Given the description of an element on the screen output the (x, y) to click on. 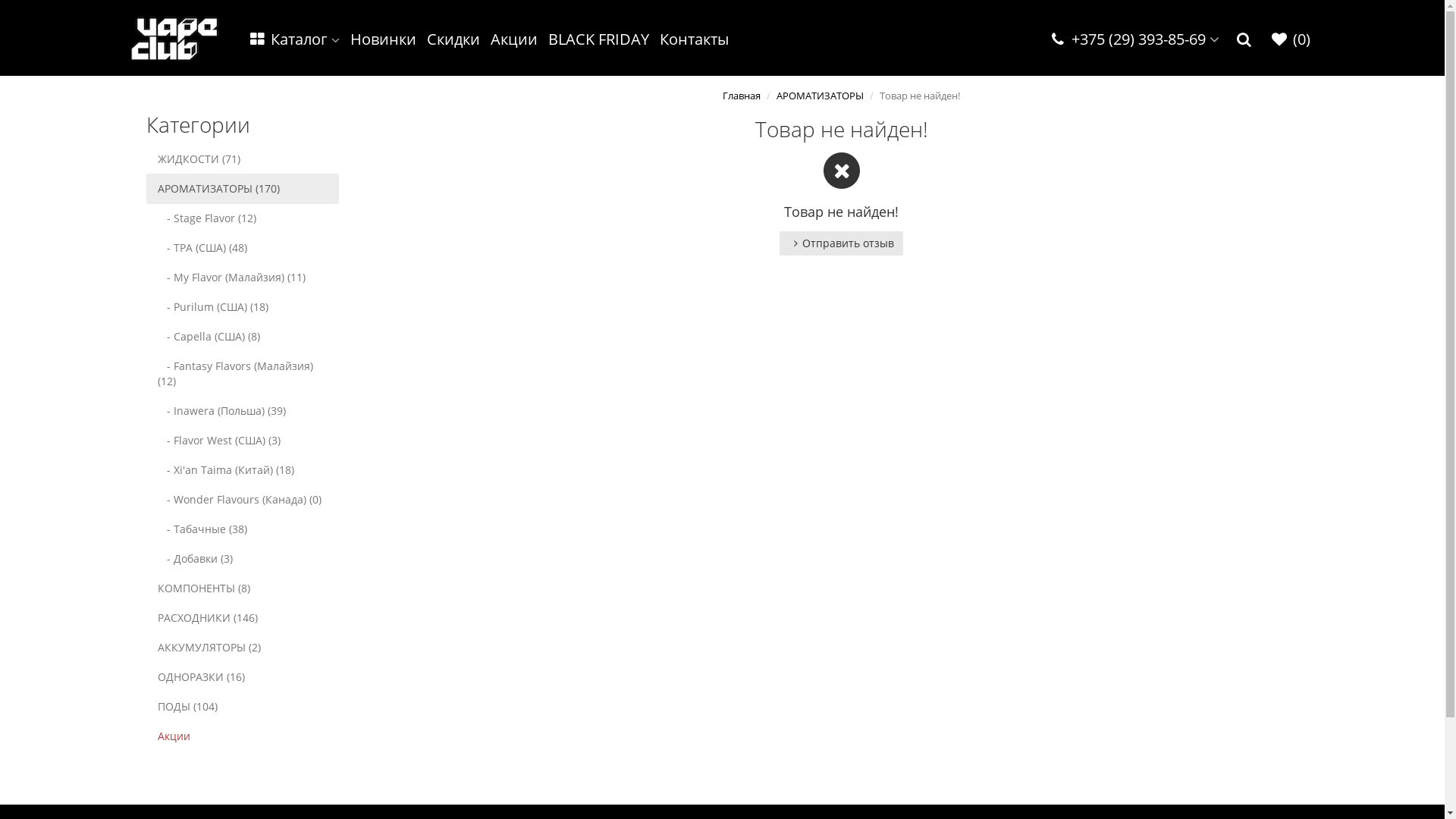
(0) Element type: text (1289, 39)
+375 (29) 393-85-69 Element type: text (1133, 39)
Vape Club Element type: hover (174, 37)
BLACK FRIDAY Element type: text (598, 39)
   - Stage Flavor (12) Element type: text (241, 218)
